Given the description of an element on the screen output the (x, y) to click on. 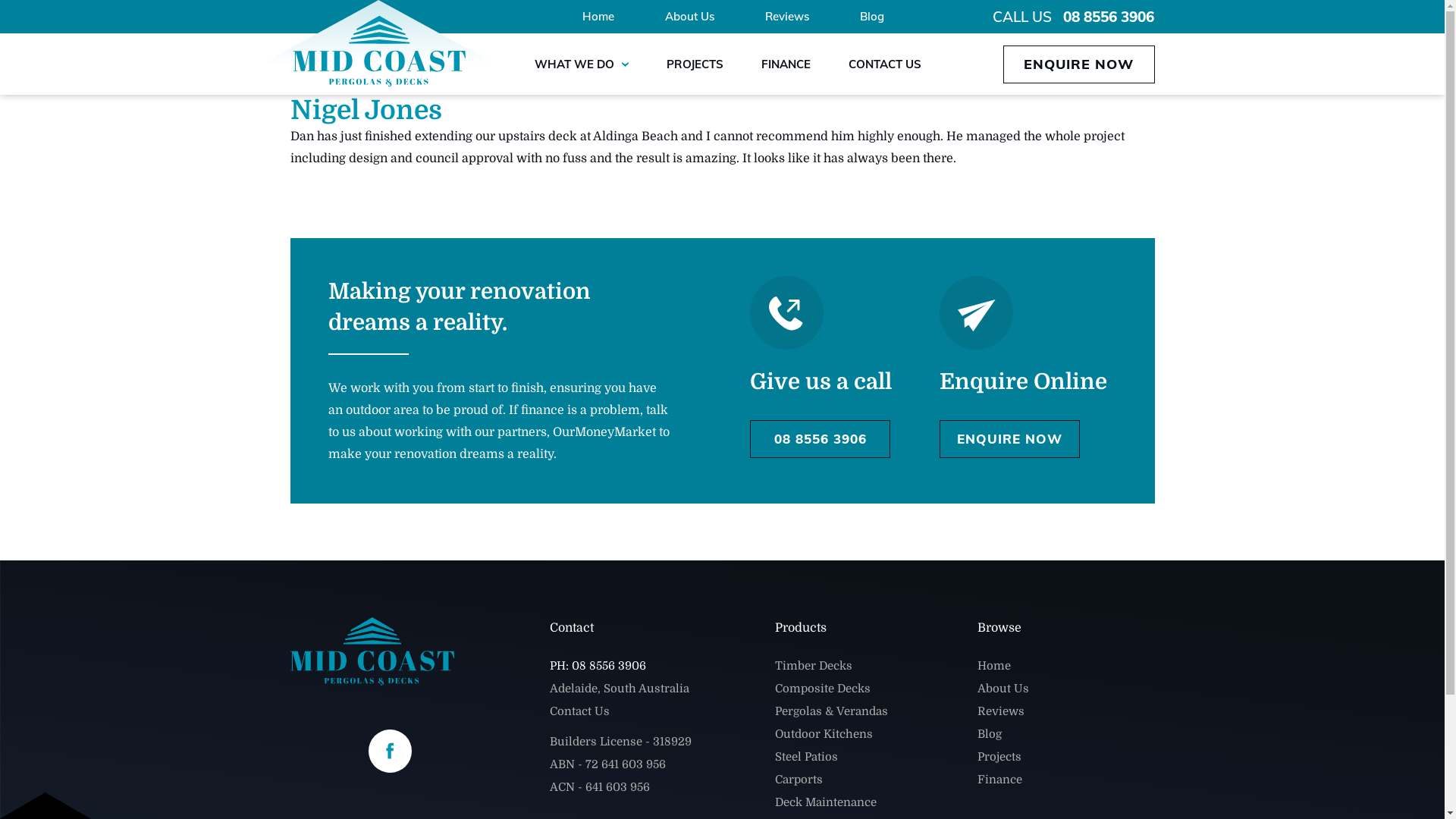
Contact Us Element type: text (578, 710)
FINANCE Element type: text (785, 64)
08 8556 3906 Element type: text (819, 439)
PH: 08 8556 3906 Element type: text (597, 665)
Finance Element type: text (999, 779)
About Us Element type: text (689, 16)
Composite Decks Element type: text (822, 688)
Home Element type: text (993, 665)
Outdoor Kitchens Element type: text (823, 733)
Enquire Online Element type: text (1023, 381)
Blog Element type: text (871, 16)
CONTACT US Element type: text (884, 64)
Blog Element type: text (989, 733)
About Us Element type: text (1003, 688)
Steel Patios Element type: text (806, 756)
Reviews Element type: text (787, 16)
Projects Element type: text (999, 756)
ENQUIRE NOW Element type: text (1078, 64)
WHAT WE DO Element type: text (581, 64)
Timber Decks Element type: text (813, 665)
ENQUIRE NOW Element type: text (1009, 439)
PROJECTS Element type: text (694, 64)
CALL US 08 8556 3906 Element type: text (1073, 16)
Pergolas & Verandas Element type: text (831, 710)
Give us a call Element type: text (820, 381)
Reviews Element type: text (1000, 710)
Carports Element type: text (798, 779)
Deck Maintenance Element type: text (825, 801)
Home Element type: text (598, 16)
